Given the description of an element on the screen output the (x, y) to click on. 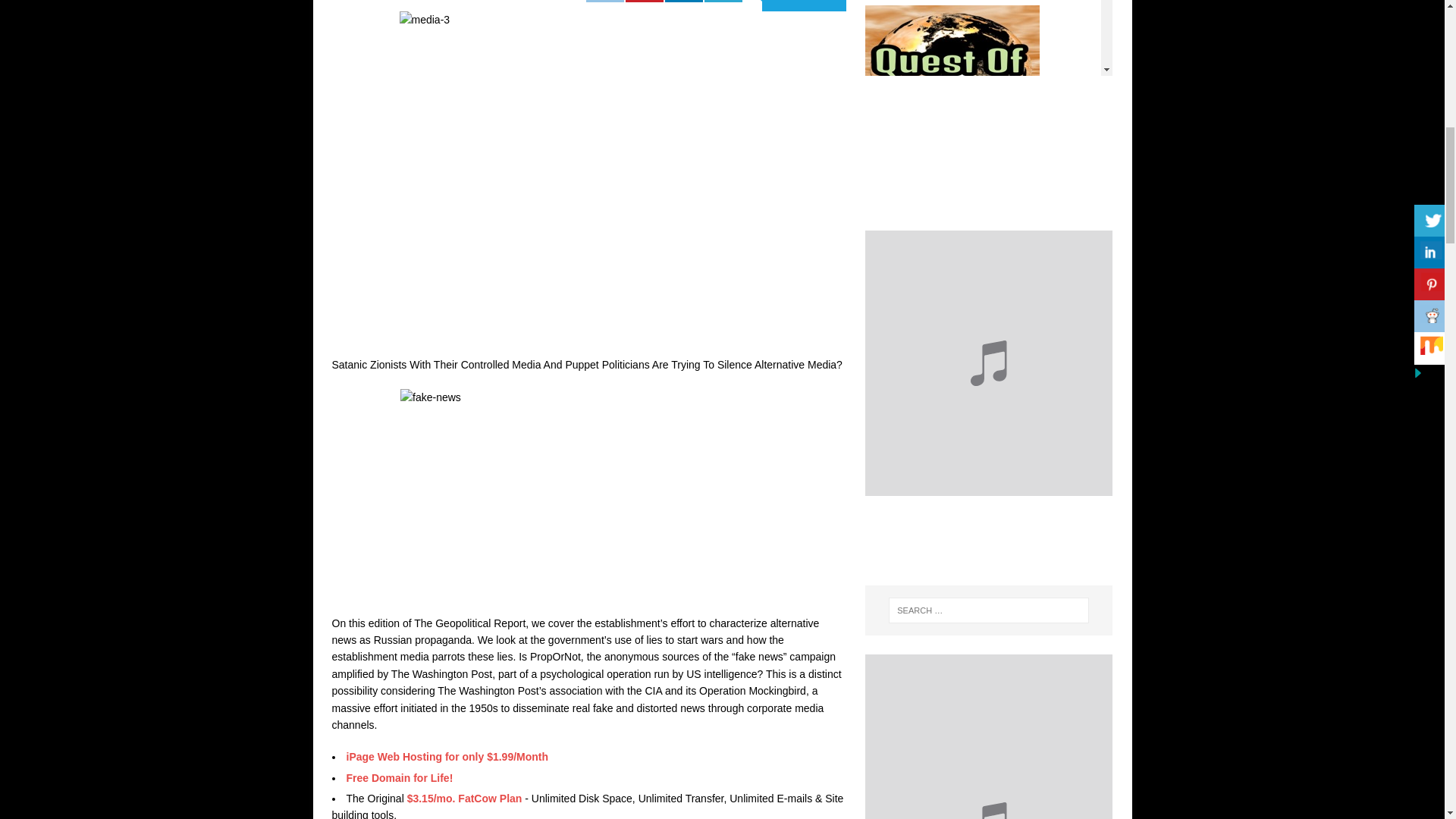
Share This! (803, 5)
Share On Reddit (605, 1)
Free Domain for Life! (399, 777)
Share On Stumbleupon (566, 1)
Share On Twitter (723, 1)
Share On Linkedin (684, 1)
Share On Pinterest (644, 1)
